Given the description of an element on the screen output the (x, y) to click on. 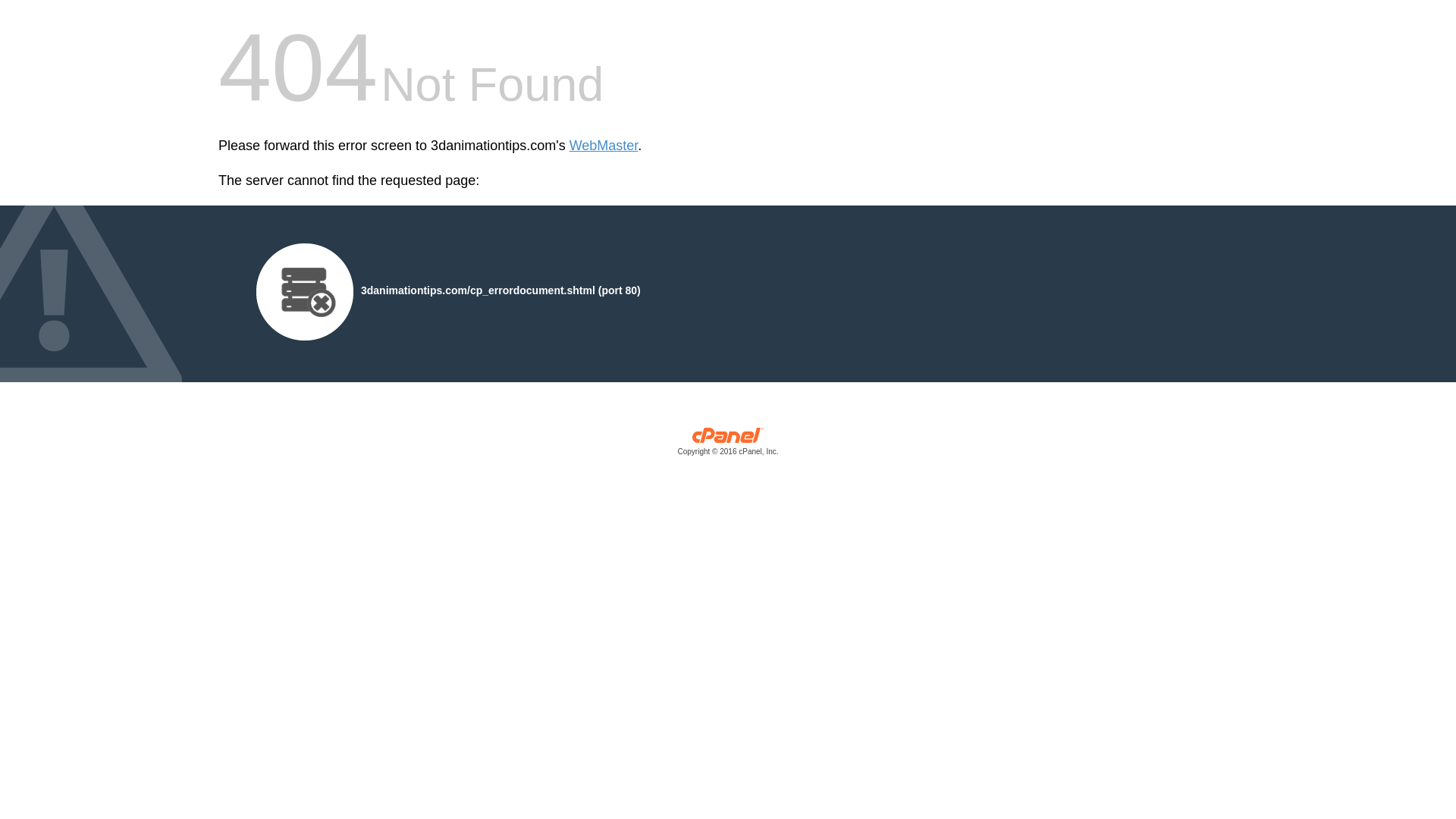
WebMaster Element type: text (603, 145)
